Given the description of an element on the screen output the (x, y) to click on. 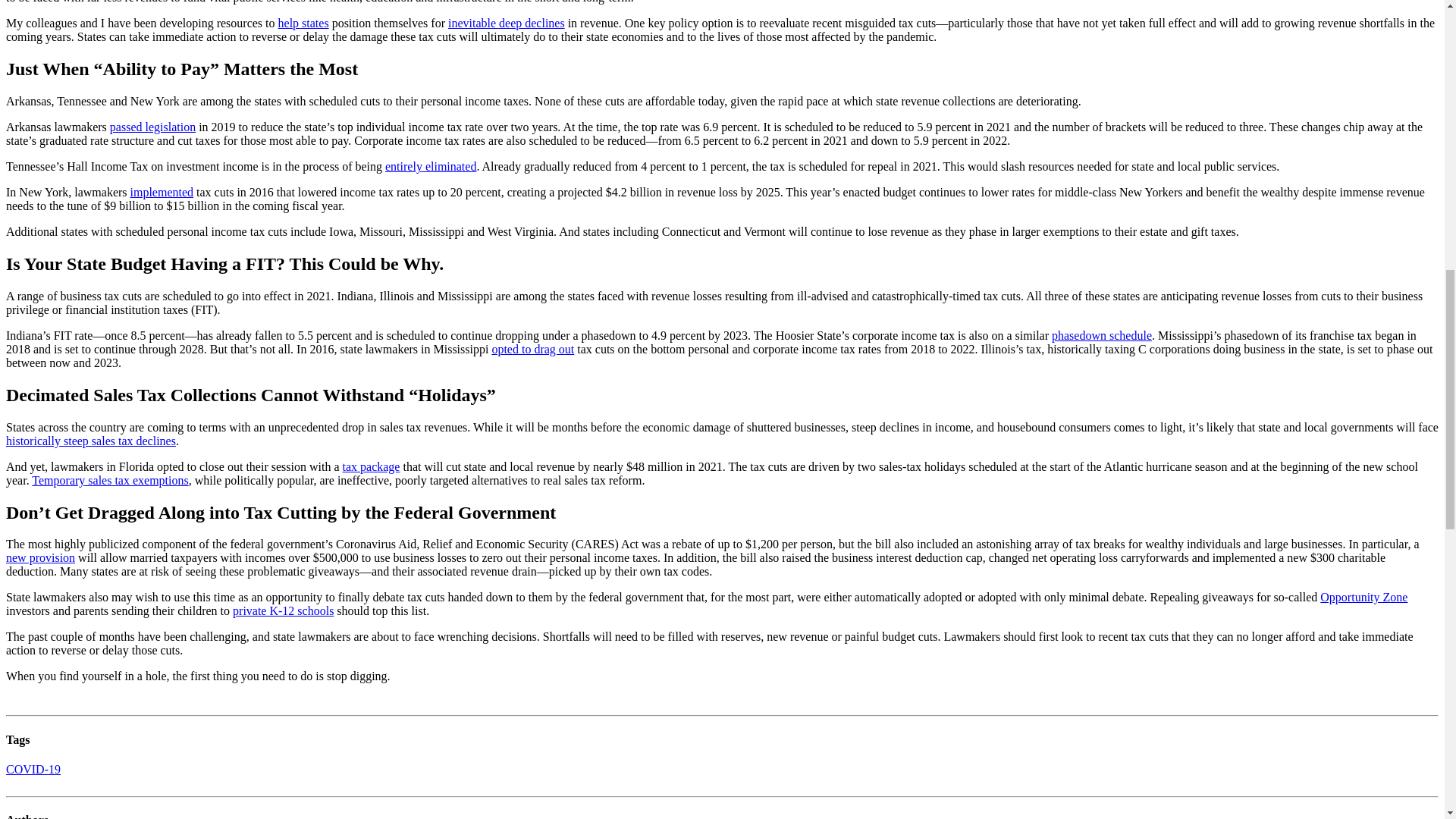
implemented (162, 192)
inevitable deep declines (506, 22)
passed legislation (152, 126)
entirely eliminated (430, 165)
help states (303, 22)
